Given the description of an element on the screen output the (x, y) to click on. 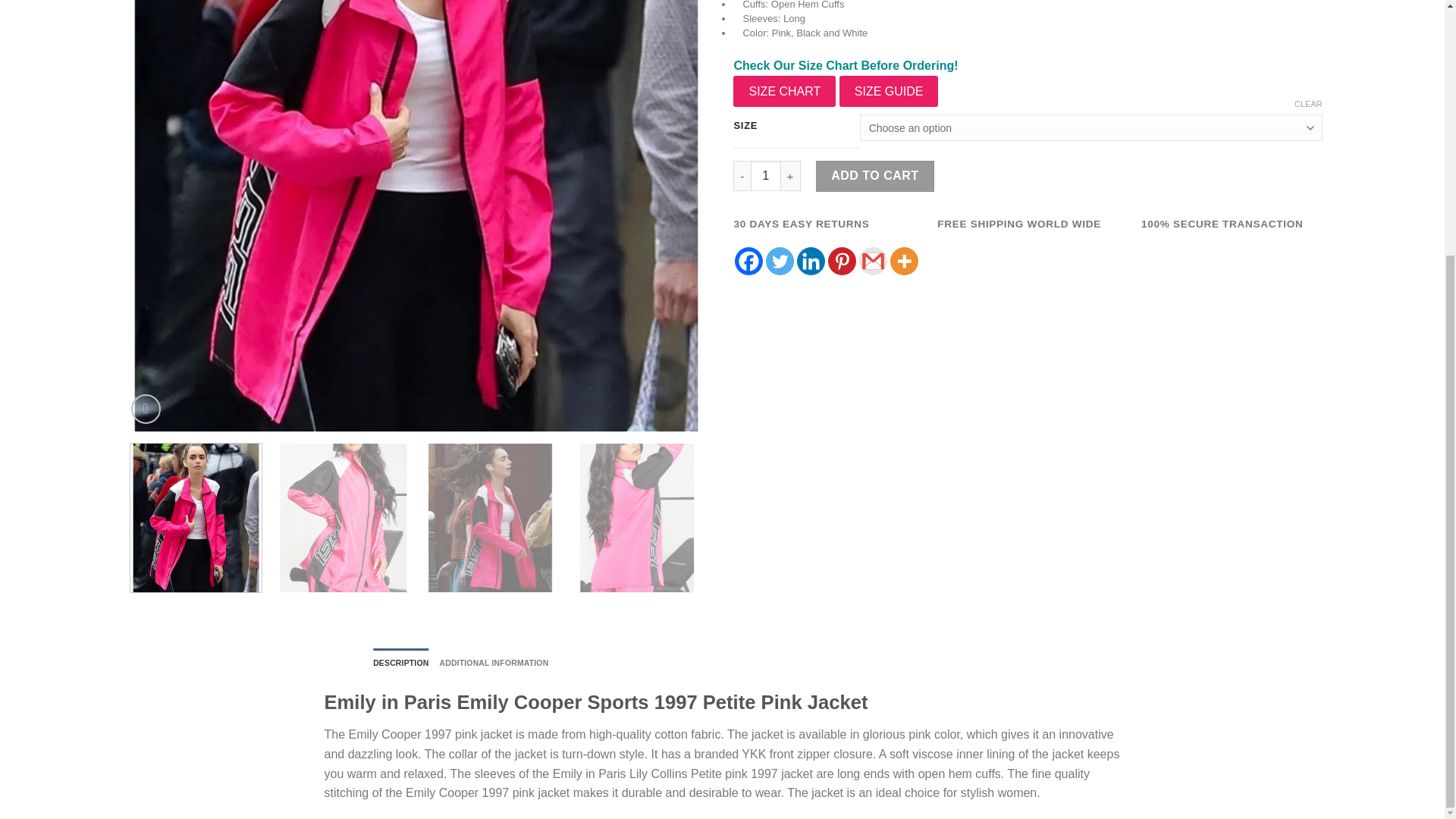
1 (765, 175)
